Given the description of an element on the screen output the (x, y) to click on. 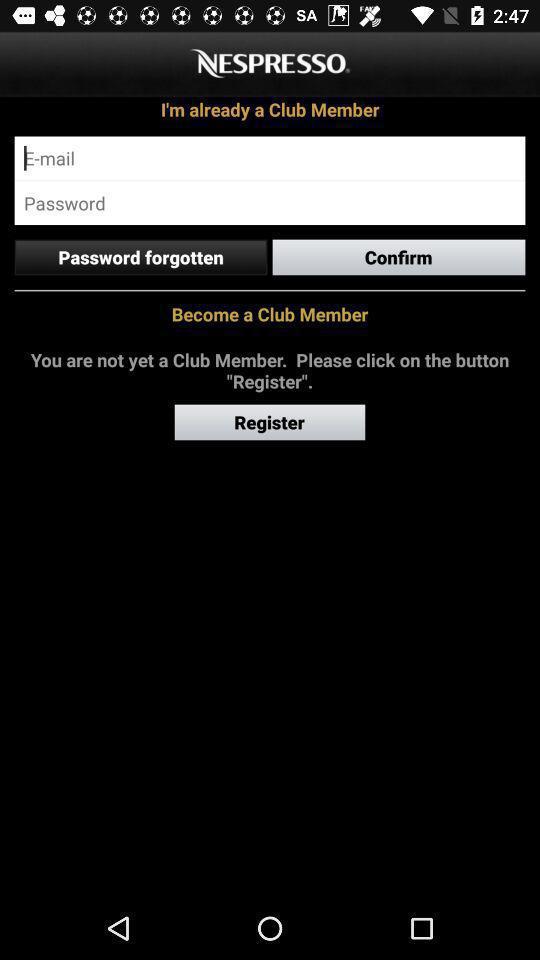
flip to the password forgotten icon (140, 257)
